Given the description of an element on the screen output the (x, y) to click on. 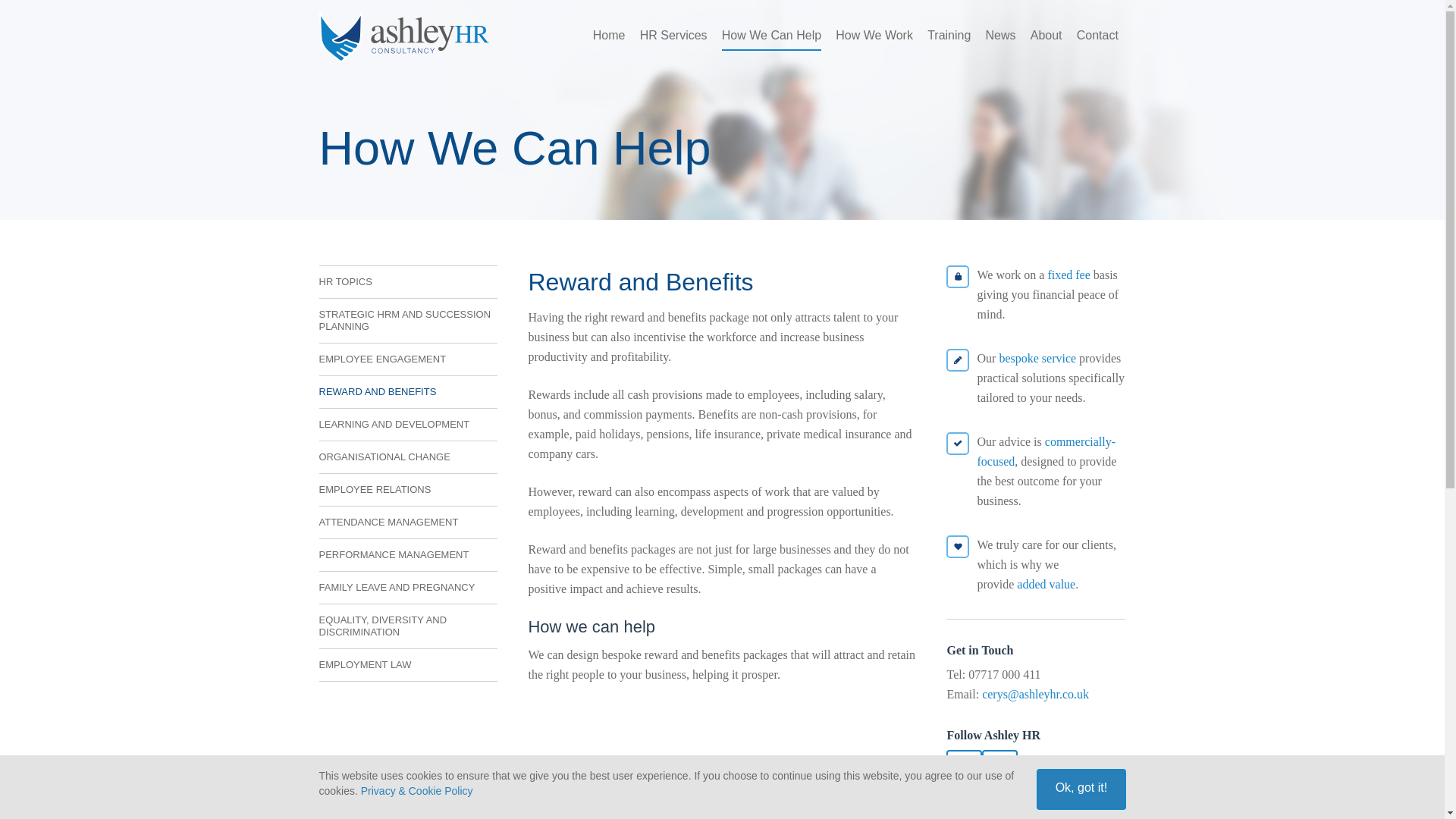
About (1046, 35)
How We Work (873, 35)
Contact (1097, 35)
Ok, got it! (1080, 789)
Ashley HR (402, 37)
Home (609, 35)
News (1000, 35)
Training (949, 35)
HR Services (673, 35)
How We Can Help (771, 37)
